Given the description of an element on the screen output the (x, y) to click on. 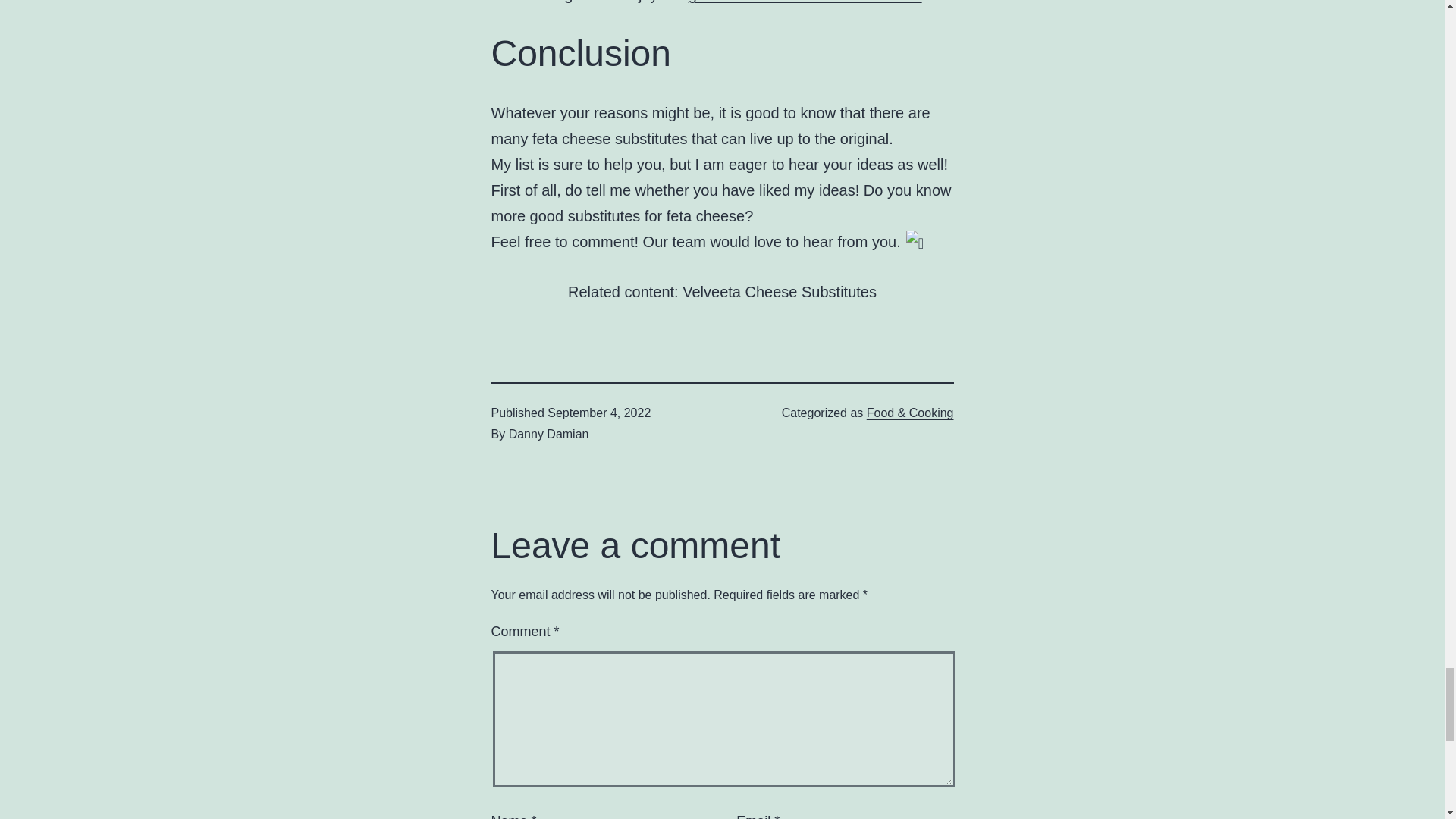
Danny Damian (548, 433)
Velveeta Cheese Substitutes (779, 291)
guide to fontina cheese substitutes (804, 1)
